Given the description of an element on the screen output the (x, y) to click on. 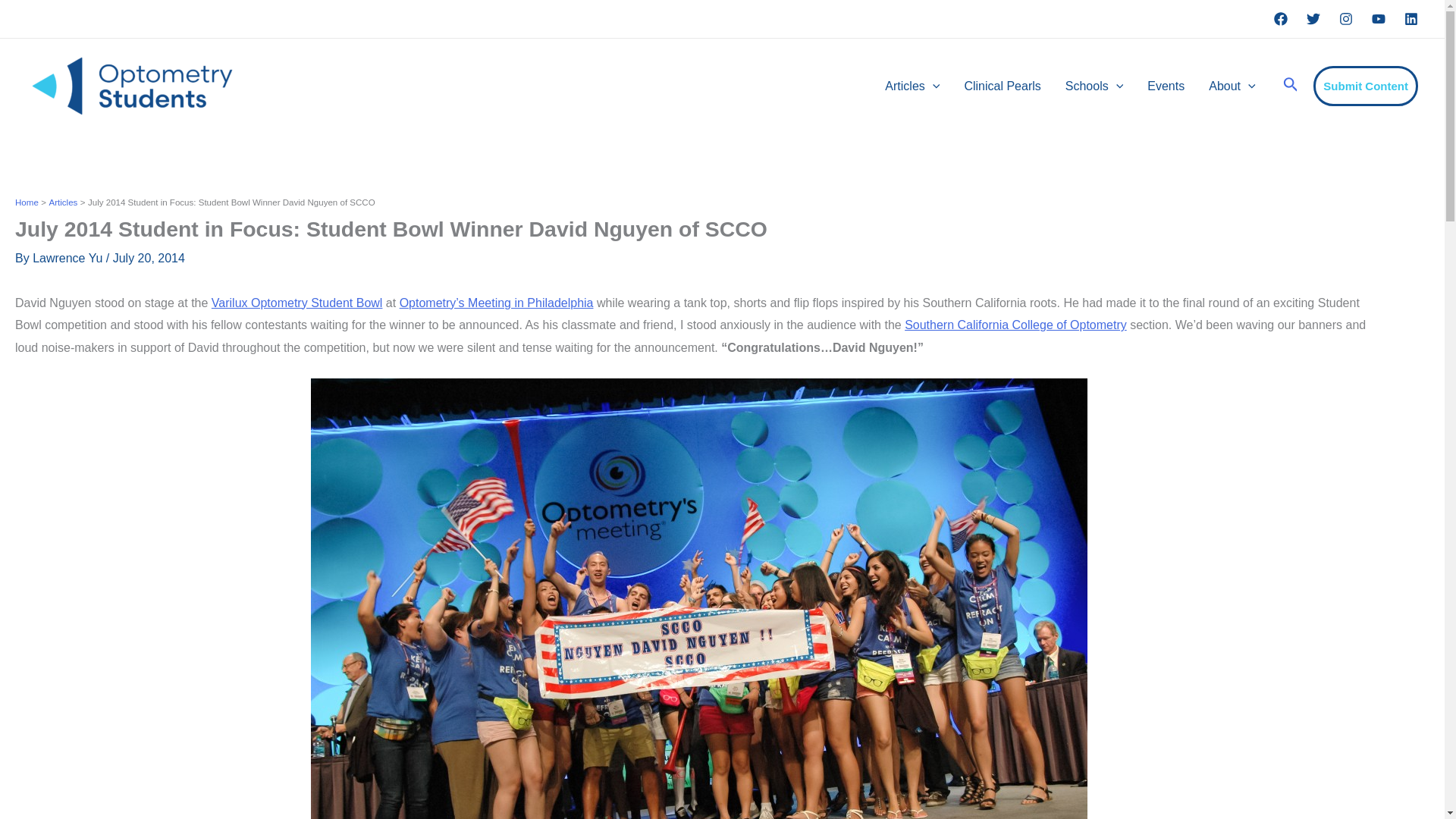
Schools (1093, 85)
Articles (912, 85)
Clinical Pearls (1002, 85)
View all posts by Lawrence Yu (69, 257)
